Given the description of an element on the screen output the (x, y) to click on. 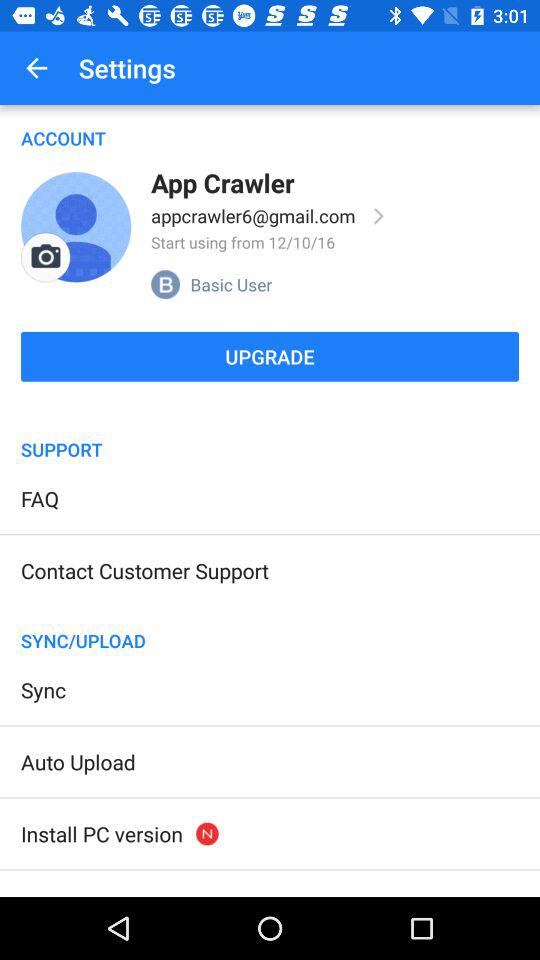
select the item above trash (101, 833)
